Given the description of an element on the screen output the (x, y) to click on. 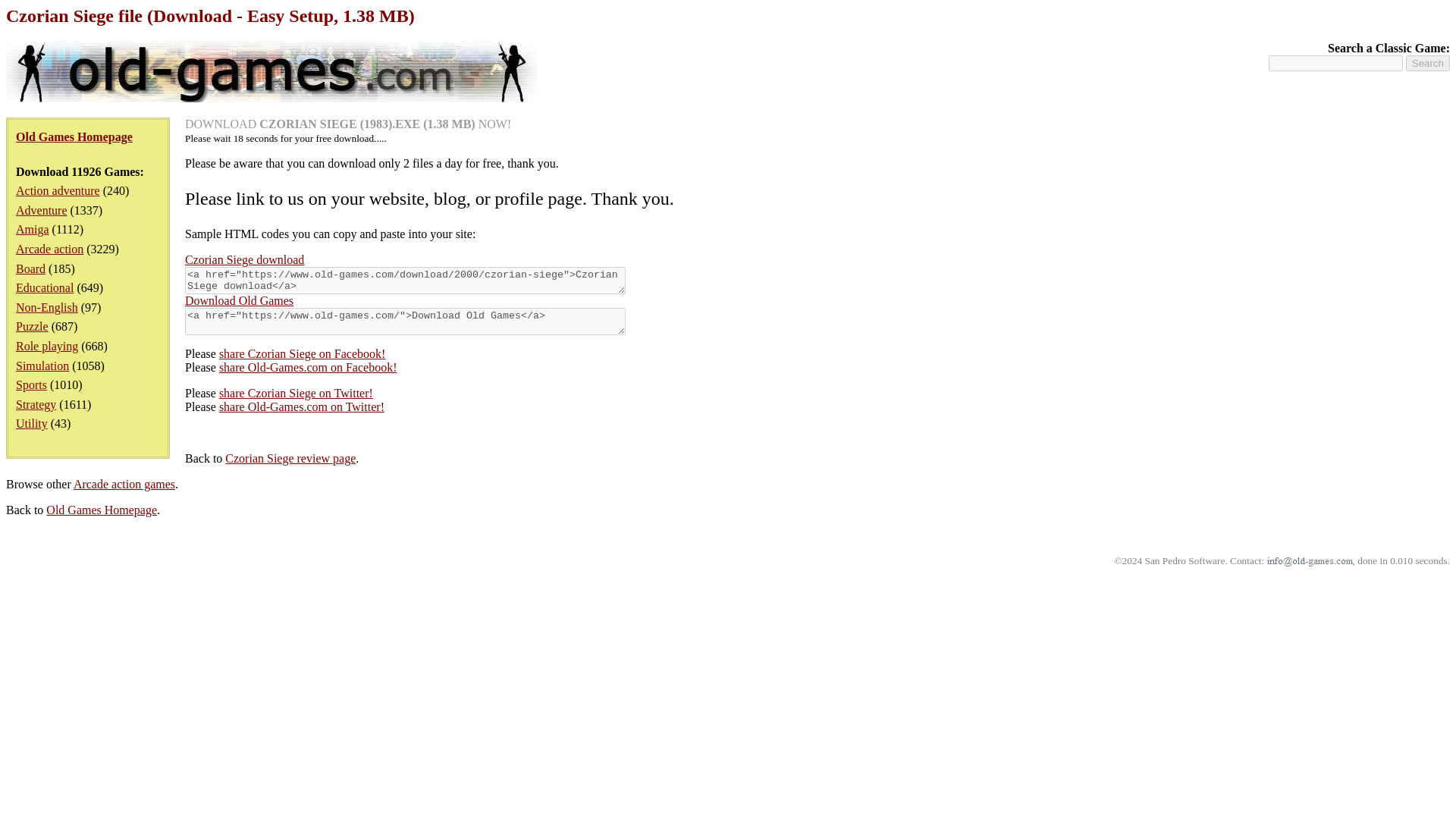
Puzzle (32, 326)
share Czorian Siege on Facebook! (302, 353)
Czorian Siege download (244, 259)
Role playing (47, 345)
Strategy (36, 404)
Educational (45, 287)
share Old-Games.com on Facebook! (308, 367)
share Old-Games.com on Twitter! (301, 406)
Old Games Homepage (101, 509)
Arcade action games (124, 483)
Search (1428, 63)
Old Games Homepage (74, 136)
Adventure (41, 210)
Arcade action (49, 248)
Board (30, 268)
